Given the description of an element on the screen output the (x, y) to click on. 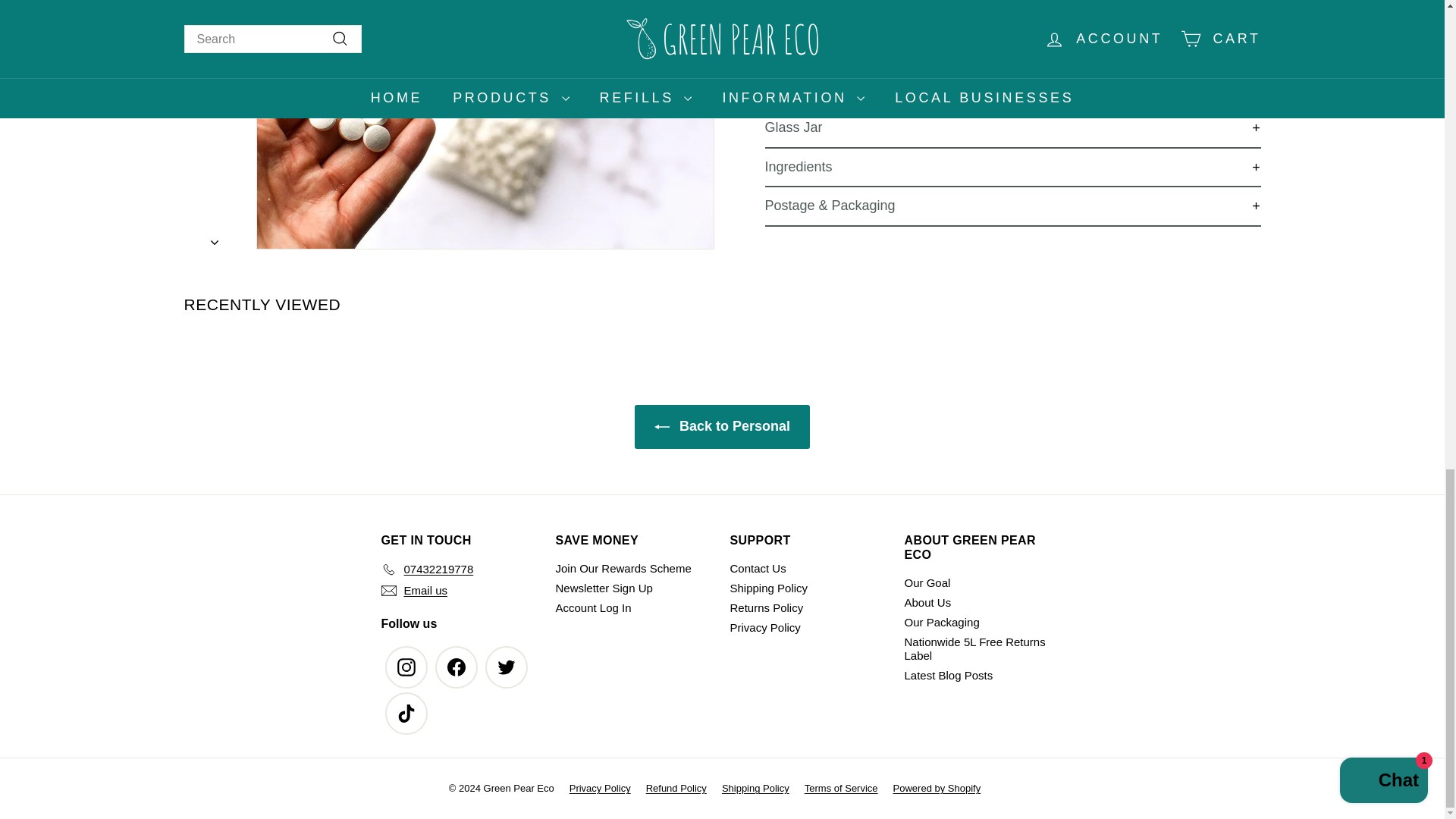
Green Pear Eco on Twitter (505, 667)
icon-left-arrow (661, 426)
Green Pear Eco on Instagram (406, 667)
twitter (506, 667)
instagram (405, 667)
Green Pear Eco on Facebook (456, 667)
